Given the description of an element on the screen output the (x, y) to click on. 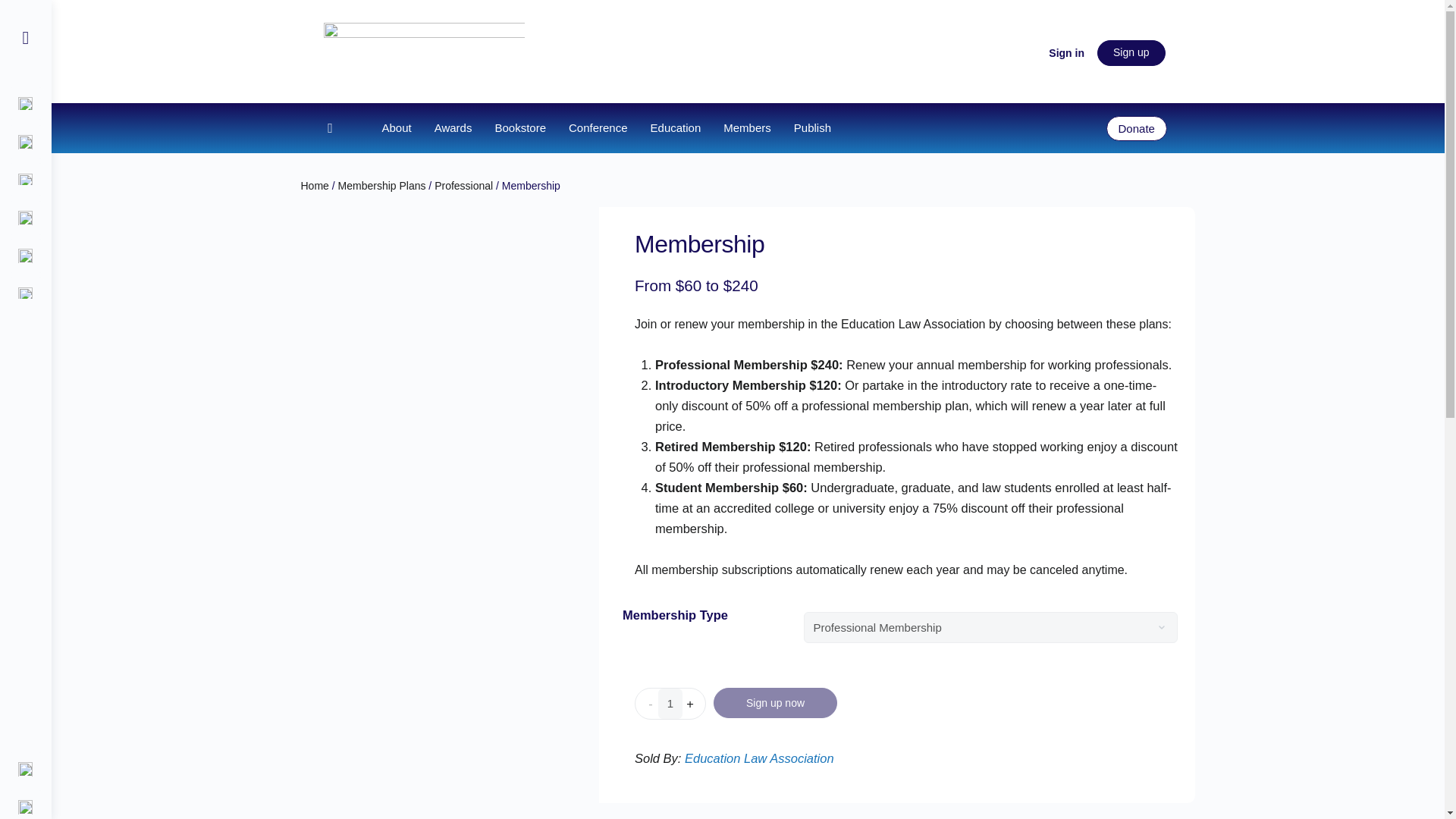
About (396, 127)
Education Law Association (759, 757)
Sign in (1066, 53)
Sign up (1130, 53)
Awards (453, 127)
